Given the description of an element on the screen output the (x, y) to click on. 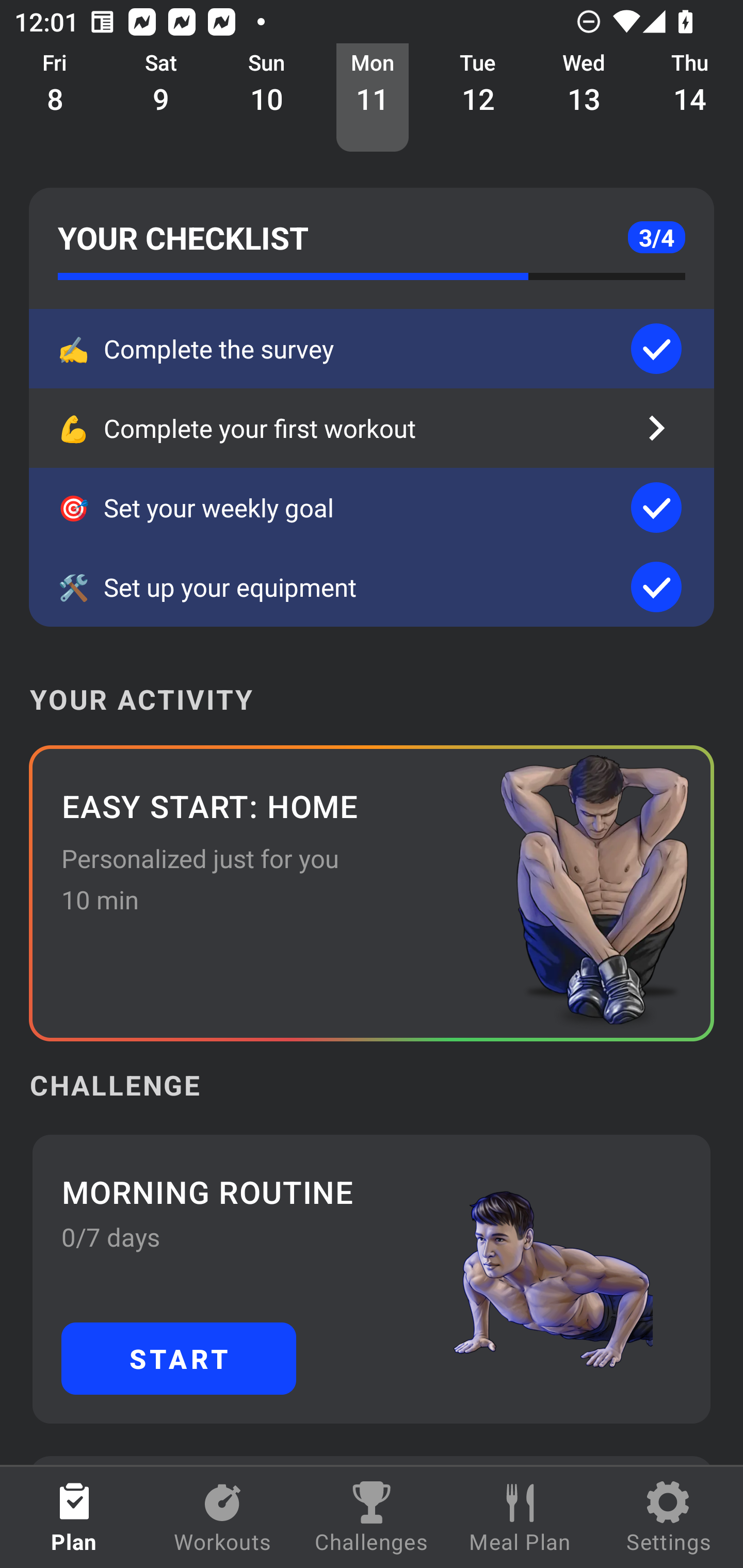
Fri 8 (55, 97)
Sat 9 (160, 97)
Sun 10 (266, 97)
Mon 11 (372, 97)
Tue 12 (478, 97)
Wed 13 (584, 97)
Thu 14 (690, 97)
💪 Complete your first workout (371, 427)
EASY START: HOME Personalized just for you 10 min (371, 892)
MORNING ROUTINE 0/7 days START (371, 1278)
START (178, 1357)
 Workouts  (222, 1517)
 Challenges  (371, 1517)
 Meal Plan  (519, 1517)
 Settings  (668, 1517)
